Given the description of an element on the screen output the (x, y) to click on. 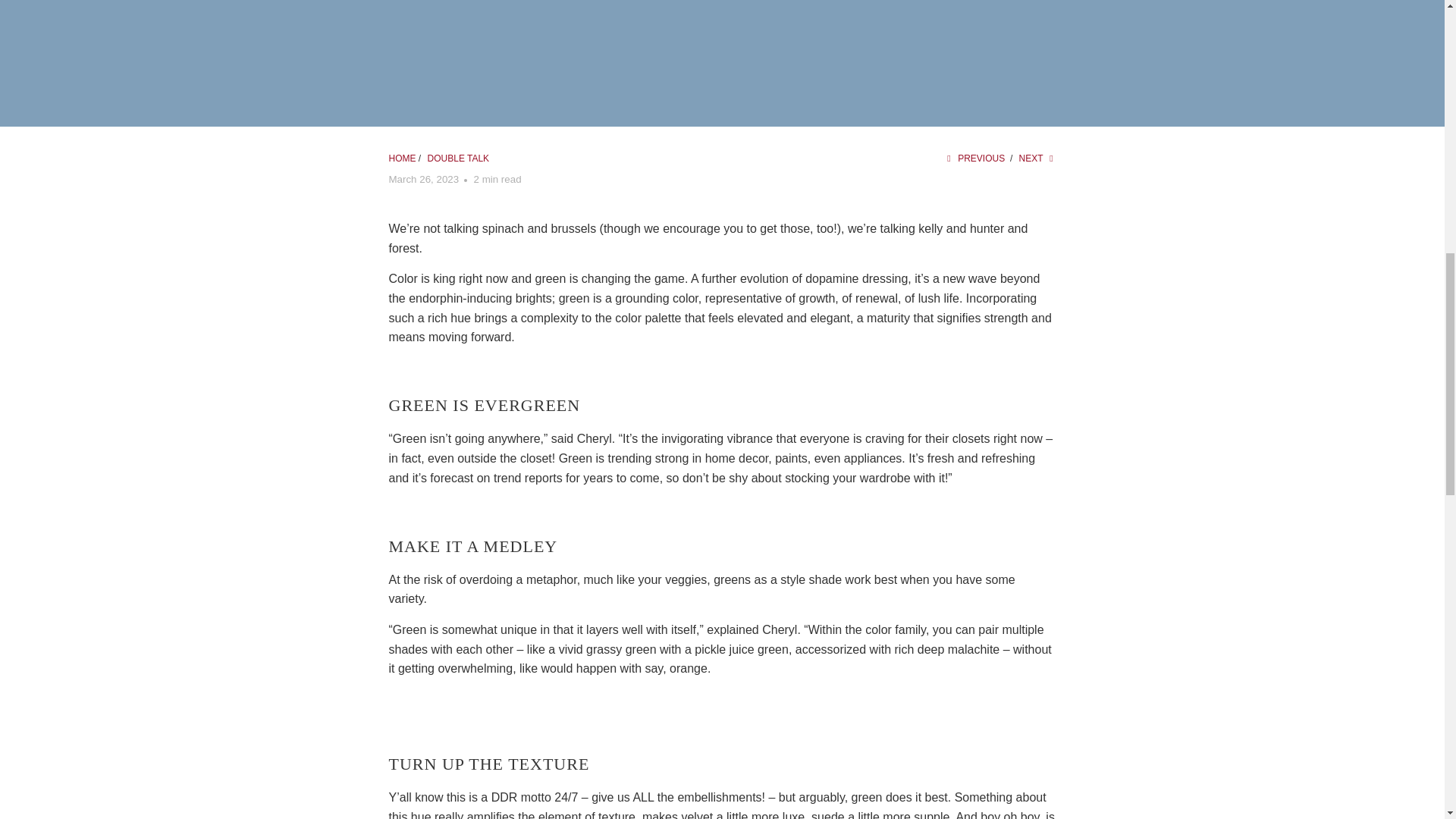
Double D Ranch (401, 158)
Double Talk (458, 158)
